Given the description of an element on the screen output the (x, y) to click on. 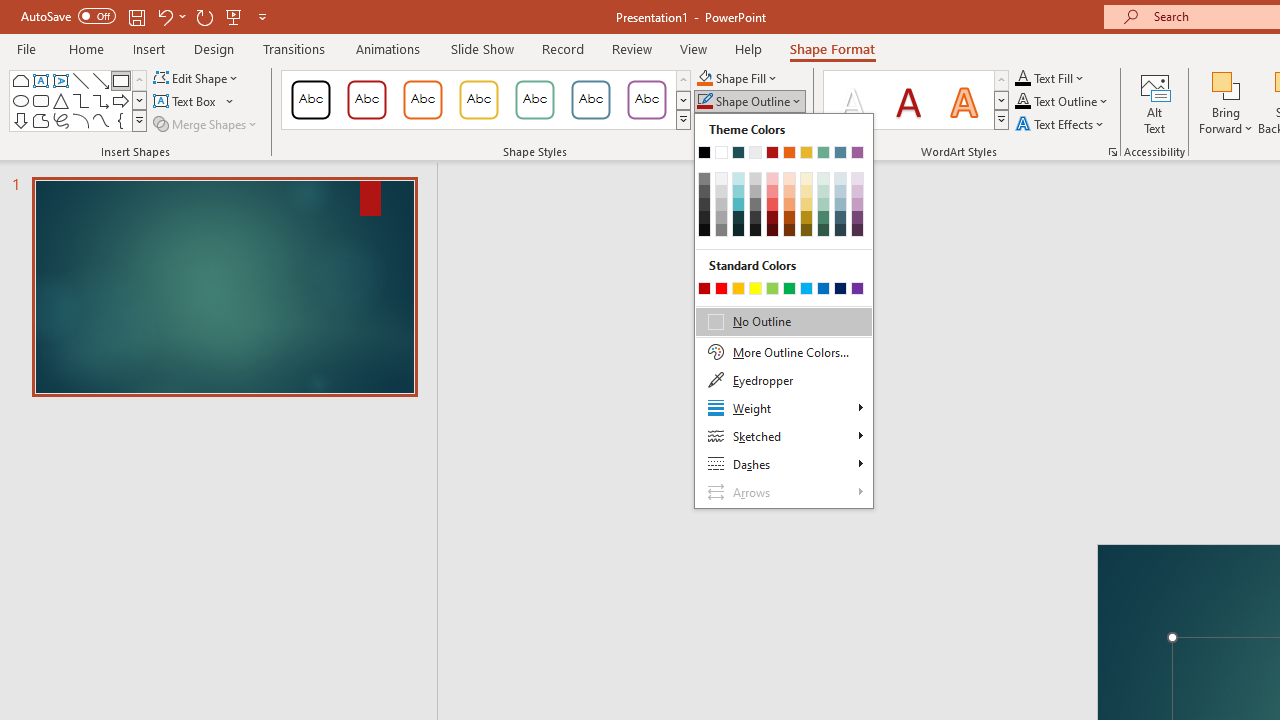
Text Fill (1050, 78)
Colored Outline - Dark Red, Accent 1 (367, 100)
Text Outline RGB(0, 0, 0) (1023, 101)
